Given the description of an element on the screen output the (x, y) to click on. 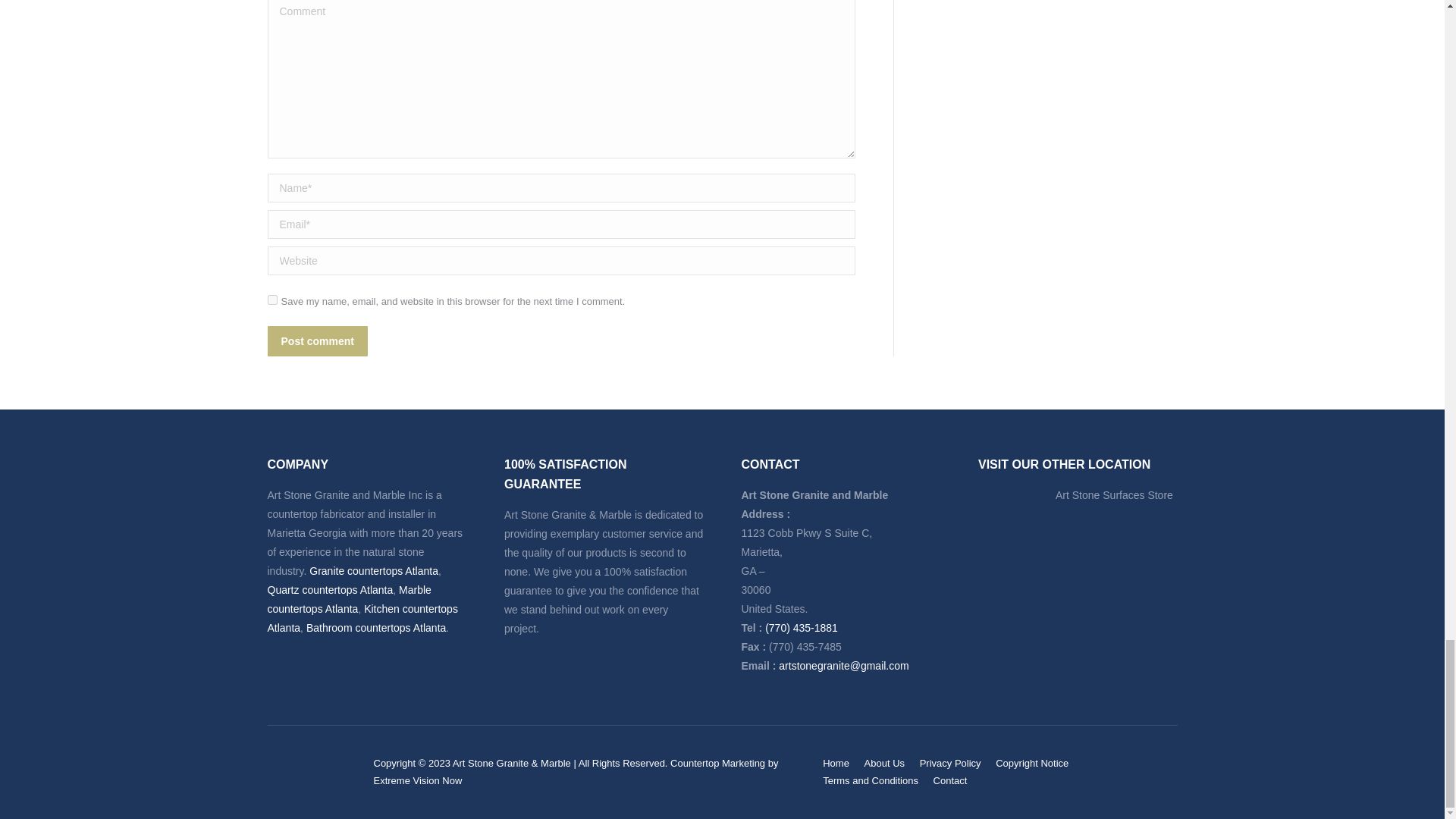
yes (271, 299)
